Given the description of an element on the screen output the (x, y) to click on. 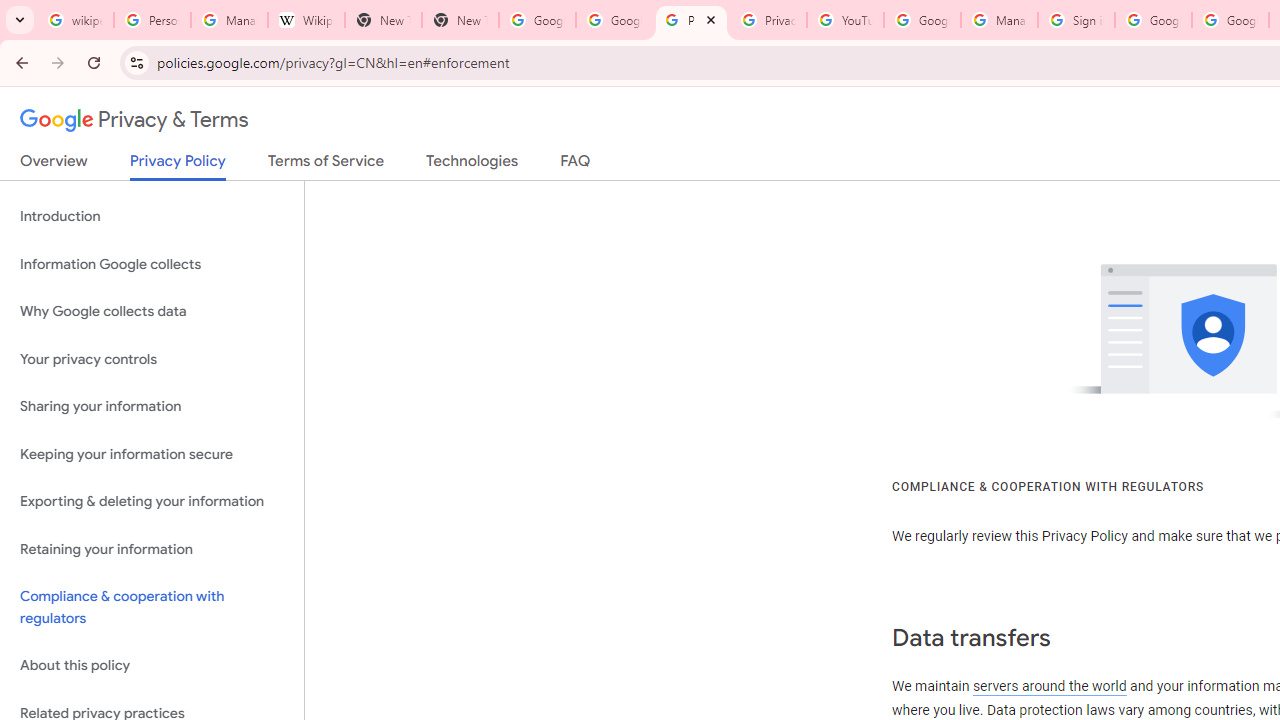
New Tab (383, 20)
Retaining your information (152, 548)
New Tab (460, 20)
Manage your Location History - Google Search Help (228, 20)
Your privacy controls (152, 358)
Privacy Policy (177, 166)
Wikipedia:Edit requests - Wikipedia (306, 20)
Compliance & cooperation with regulators (152, 607)
